Given the description of an element on the screen output the (x, y) to click on. 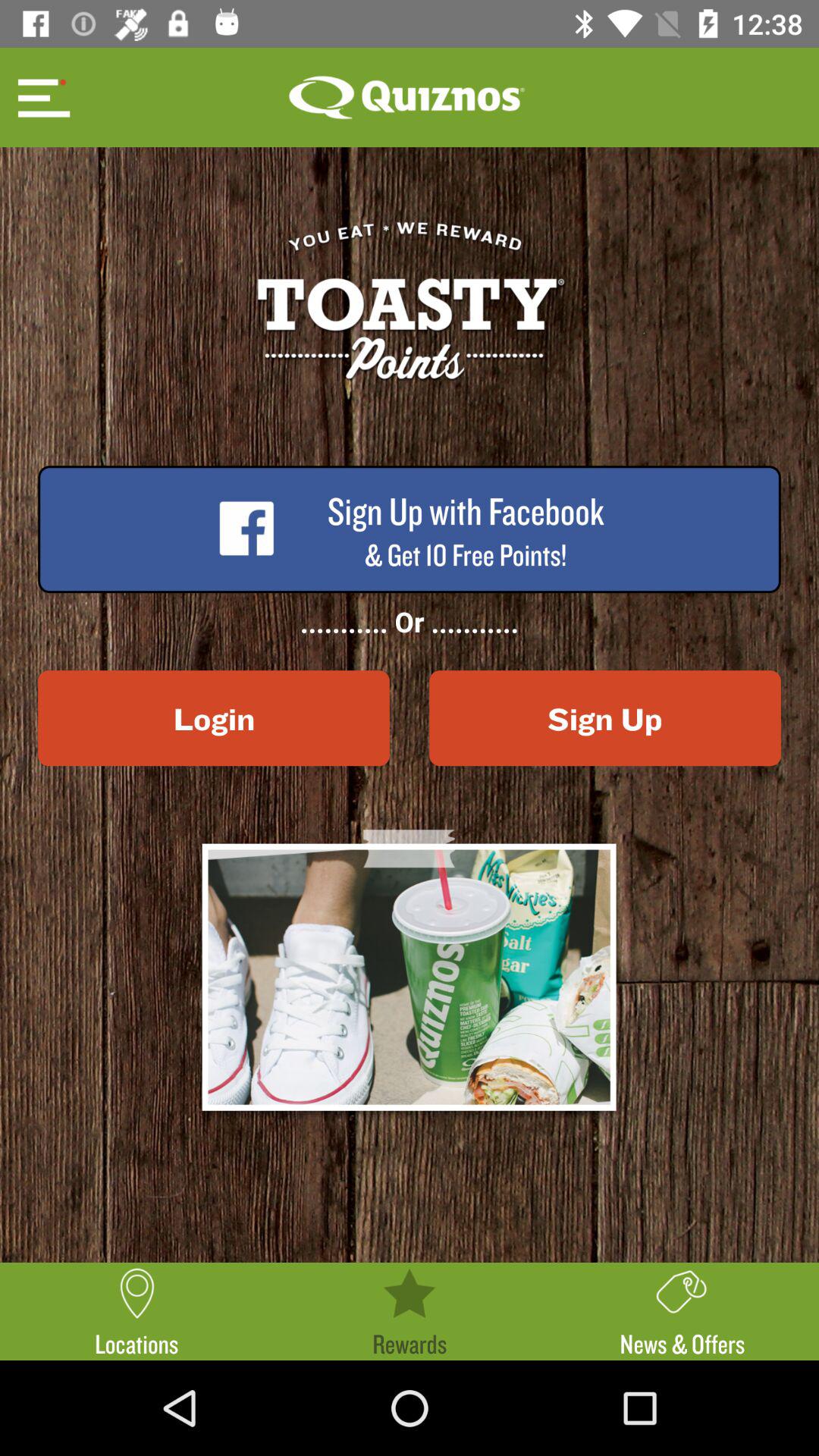
open options (41, 97)
